Given the description of an element on the screen output the (x, y) to click on. 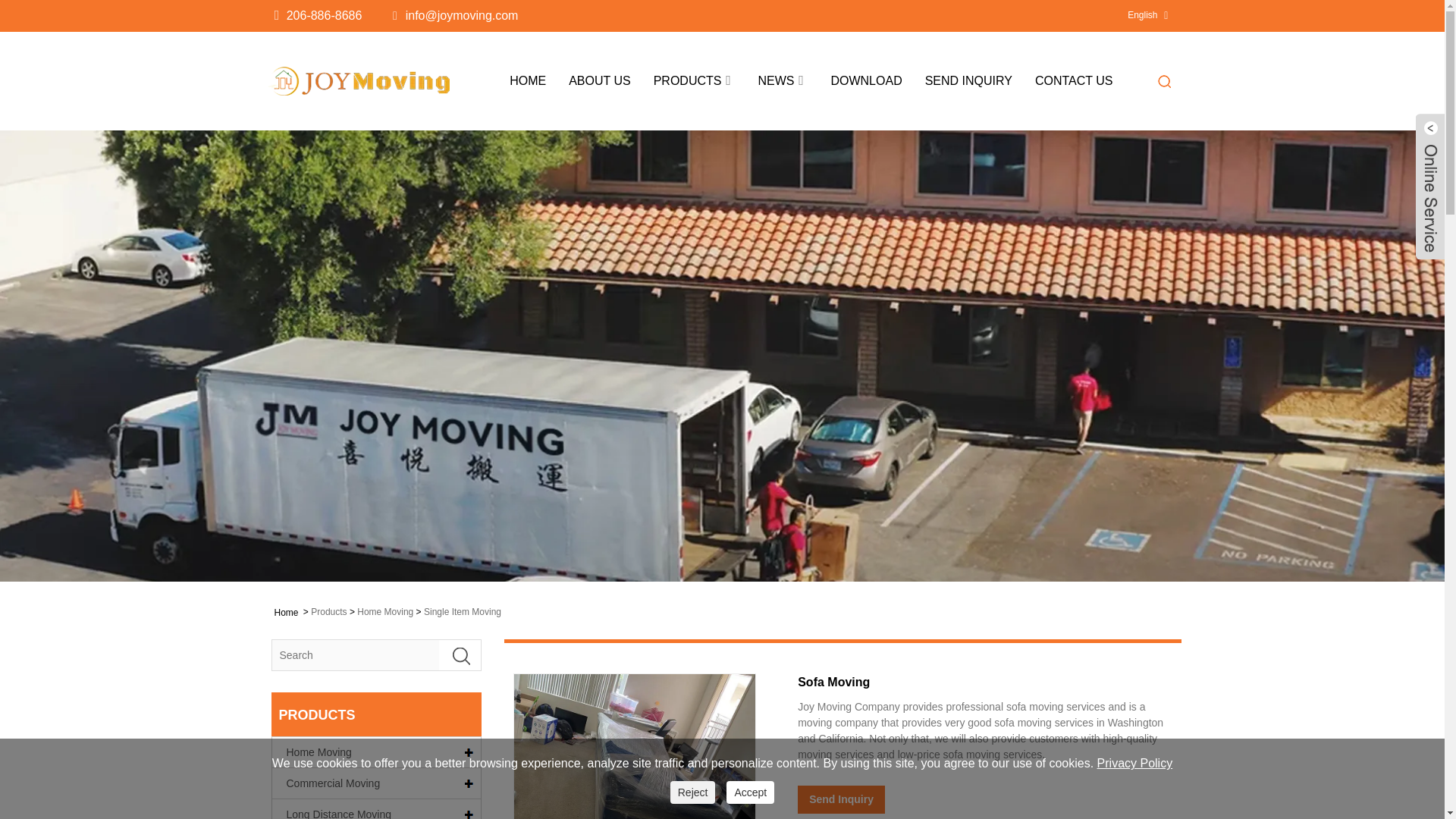
ABOUT US (599, 81)
English (1141, 15)
206-886-8686 (324, 15)
Home (284, 611)
PRODUCTS (687, 81)
Products (328, 611)
SEND INQUIRY (967, 81)
Products (687, 81)
About Us (599, 81)
DOWNLOAD (865, 81)
